Given the description of an element on the screen output the (x, y) to click on. 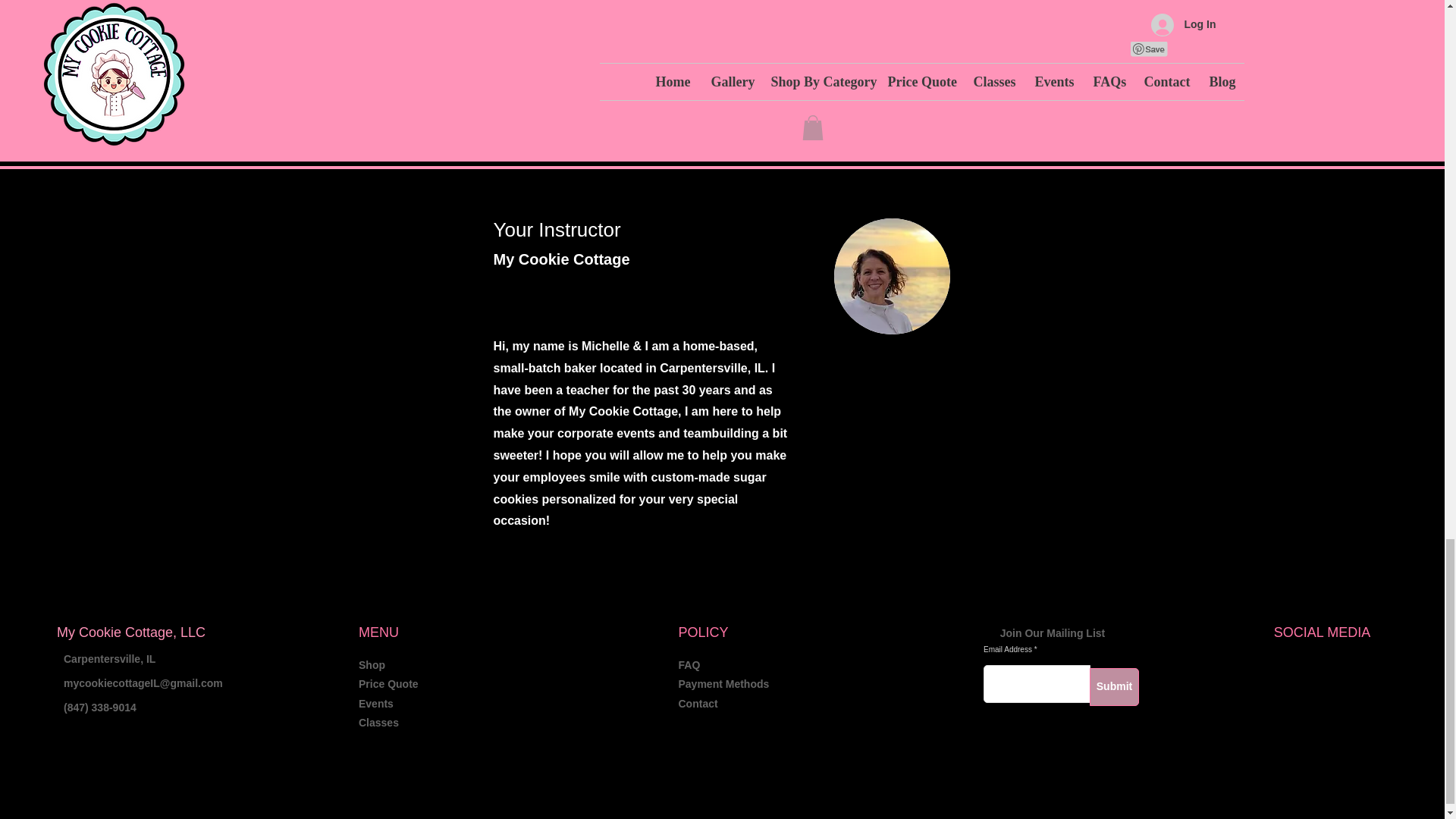
Events (375, 703)
Submit (1113, 686)
Classes (378, 722)
Price Quote (388, 684)
Contact (697, 703)
FAQ (689, 664)
